Given the description of an element on the screen output the (x, y) to click on. 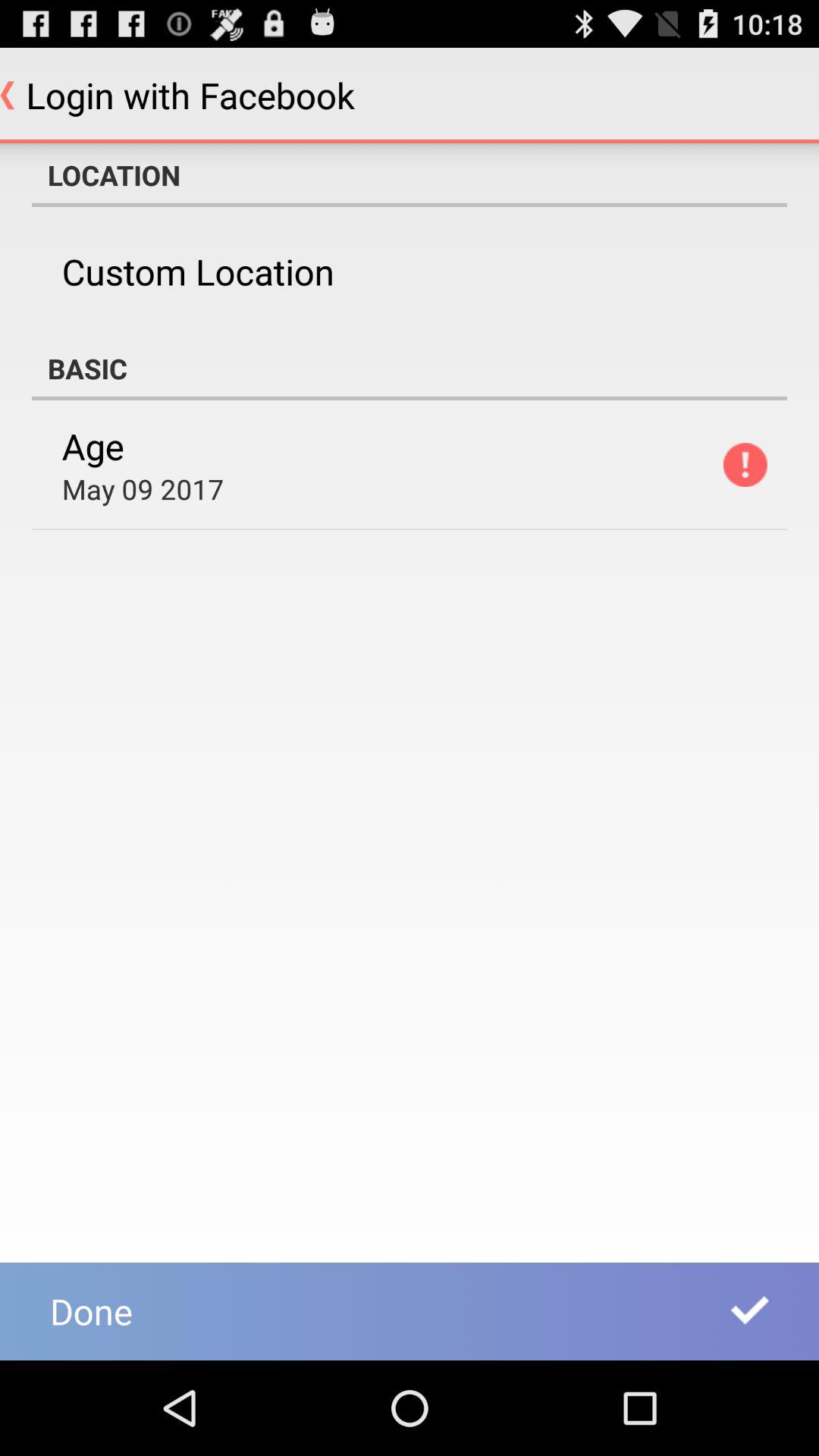
scroll to the may 09 2017 item (142, 488)
